Given the description of an element on the screen output the (x, y) to click on. 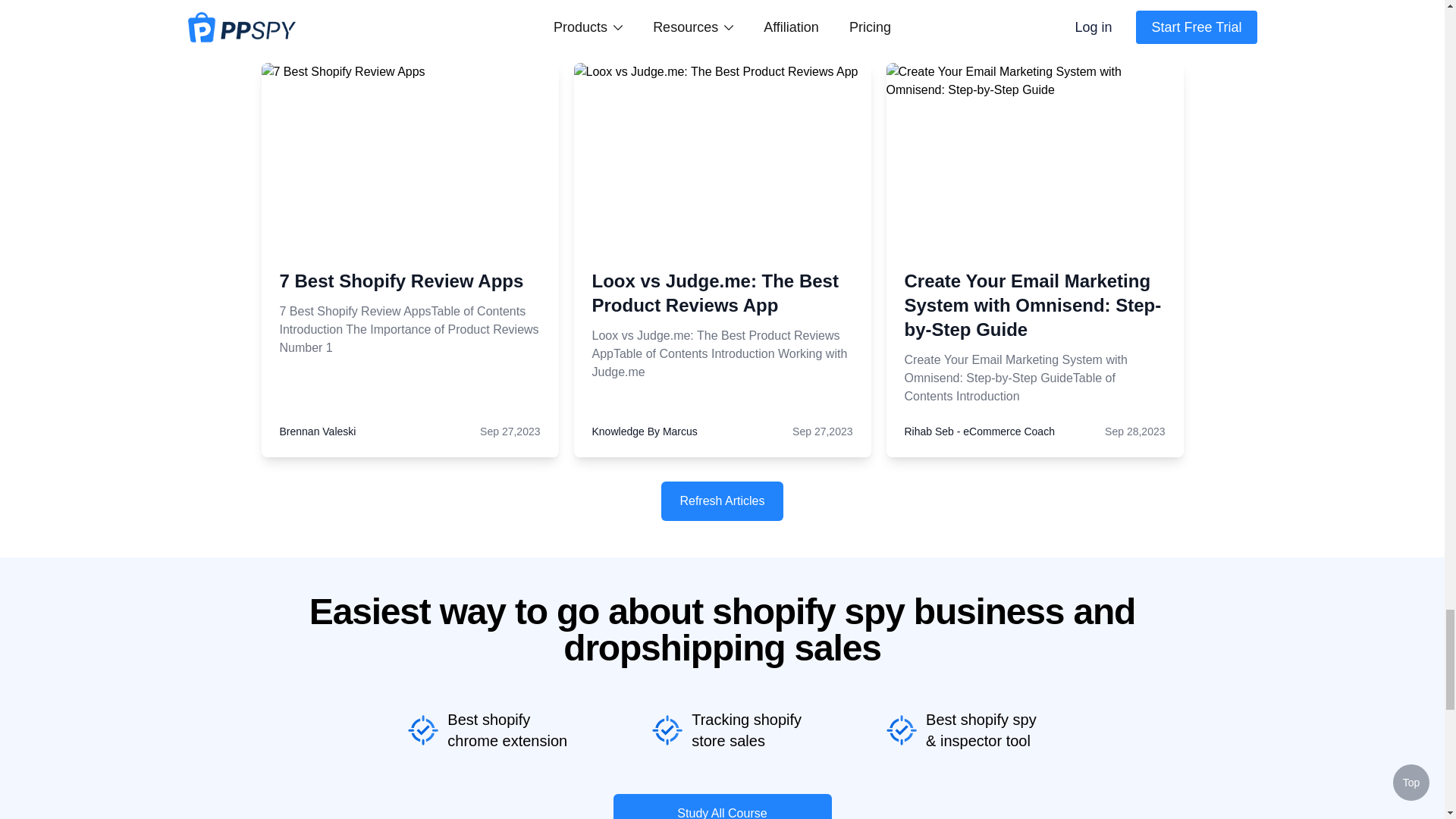
Knowledge By Marcus (644, 431)
Brennan Valeski (317, 431)
Master Drop Shipping with Bigcommons (347, 292)
The Ultimate Guide to Dropshipping with Big Cartel (352, 237)
Rihab Seb - eCommerce Coach (979, 431)
Boost Your Trading Success with Mechanical Rules (364, 183)
